Given the description of an element on the screen output the (x, y) to click on. 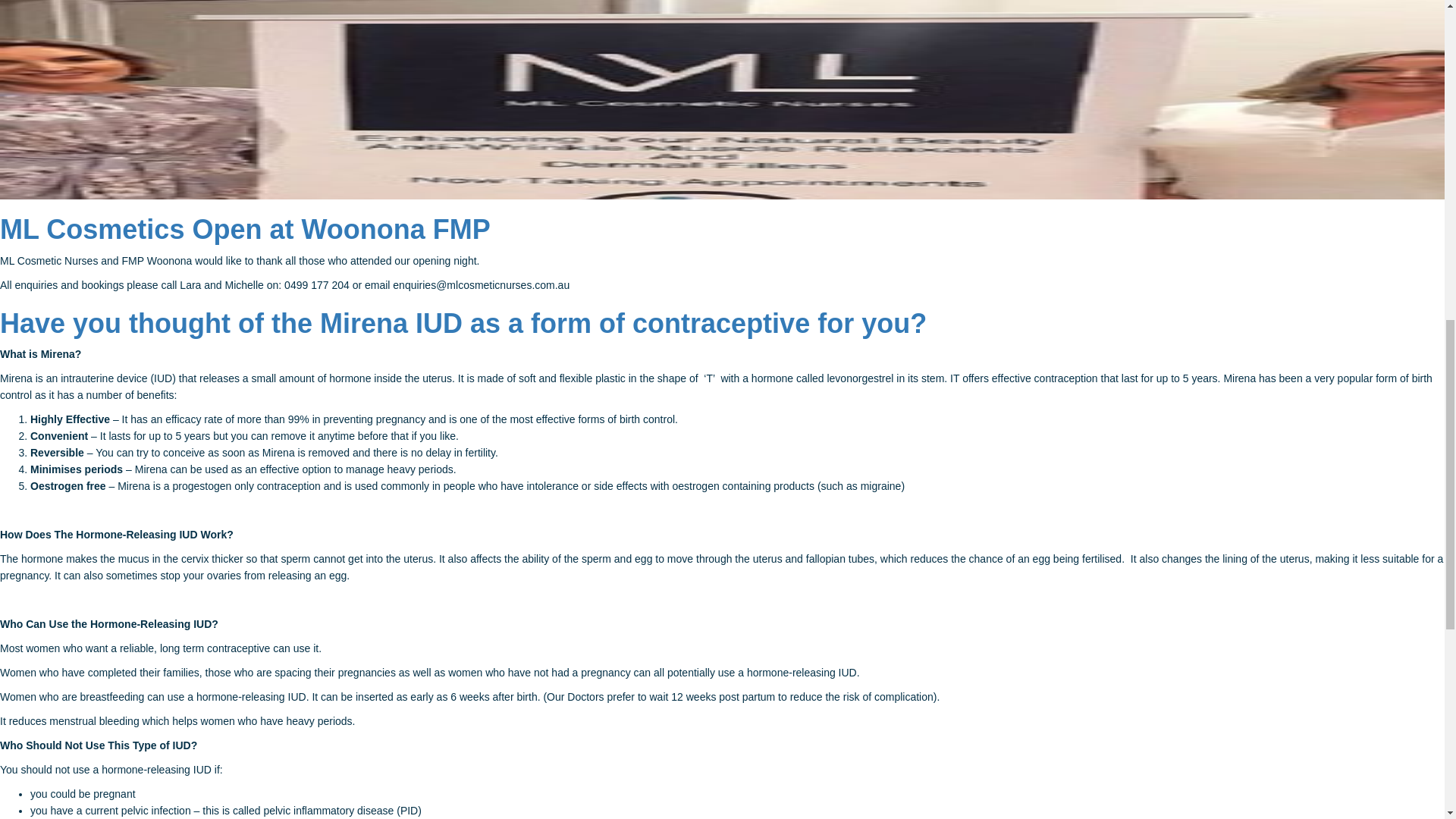
ML Cosmetics Open at Woonona FMP (245, 228)
